Given the description of an element on the screen output the (x, y) to click on. 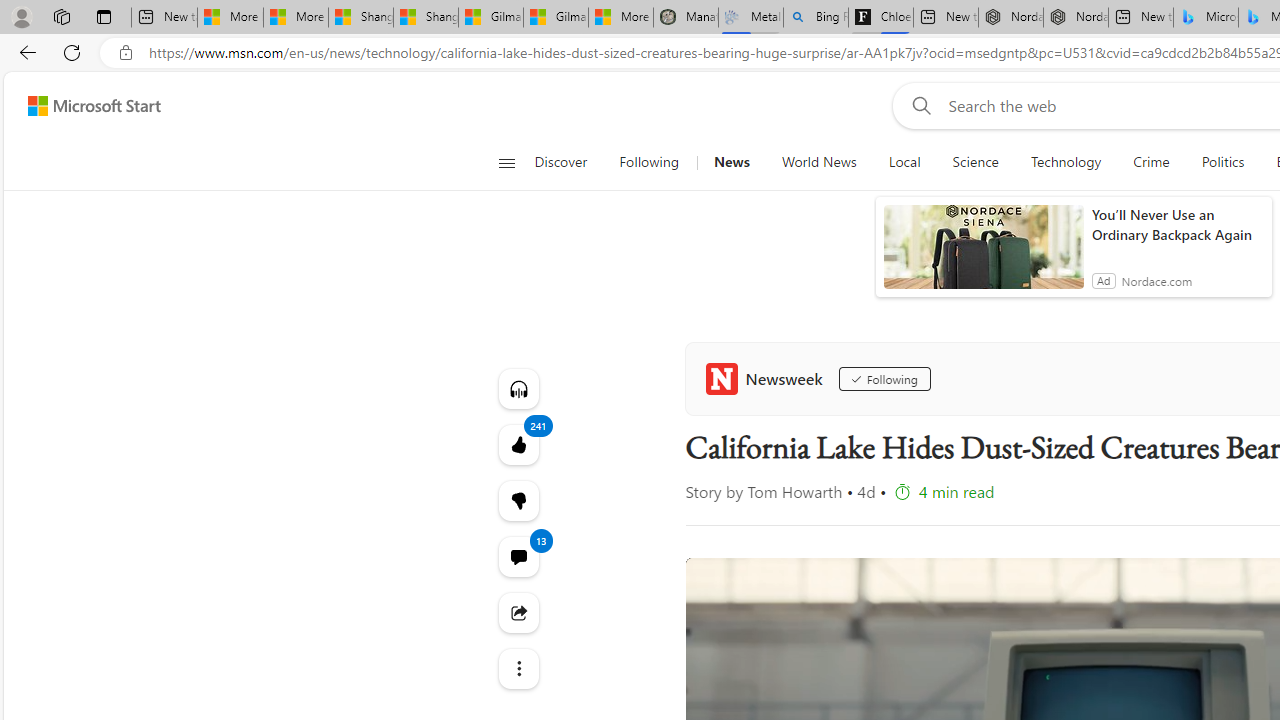
World News (818, 162)
Crime (1151, 162)
Microsoft Bing Travel - Stays in Bangkok, Bangkok, Thailand (1205, 17)
241 Like (517, 444)
Nordace.com (1156, 280)
Listen to this article (517, 388)
Newsweek (767, 378)
